Given the description of an element on the screen output the (x, y) to click on. 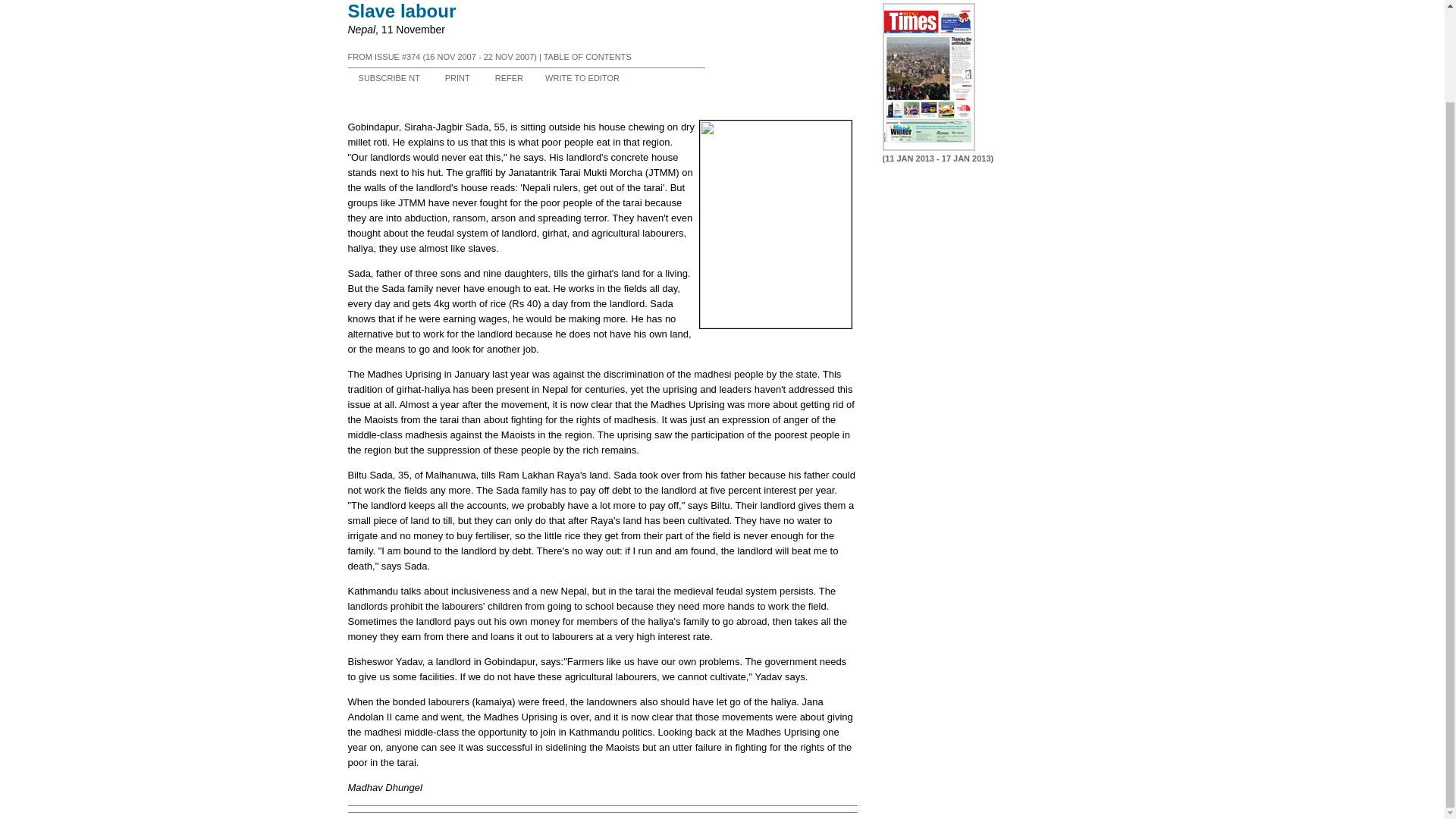
WRITE TO EDITOR (582, 77)
TABLE OF CONTENTS (587, 56)
SUBSCRIBE NT (389, 77)
PRINT (458, 77)
REFER (508, 77)
